Given the description of an element on the screen output the (x, y) to click on. 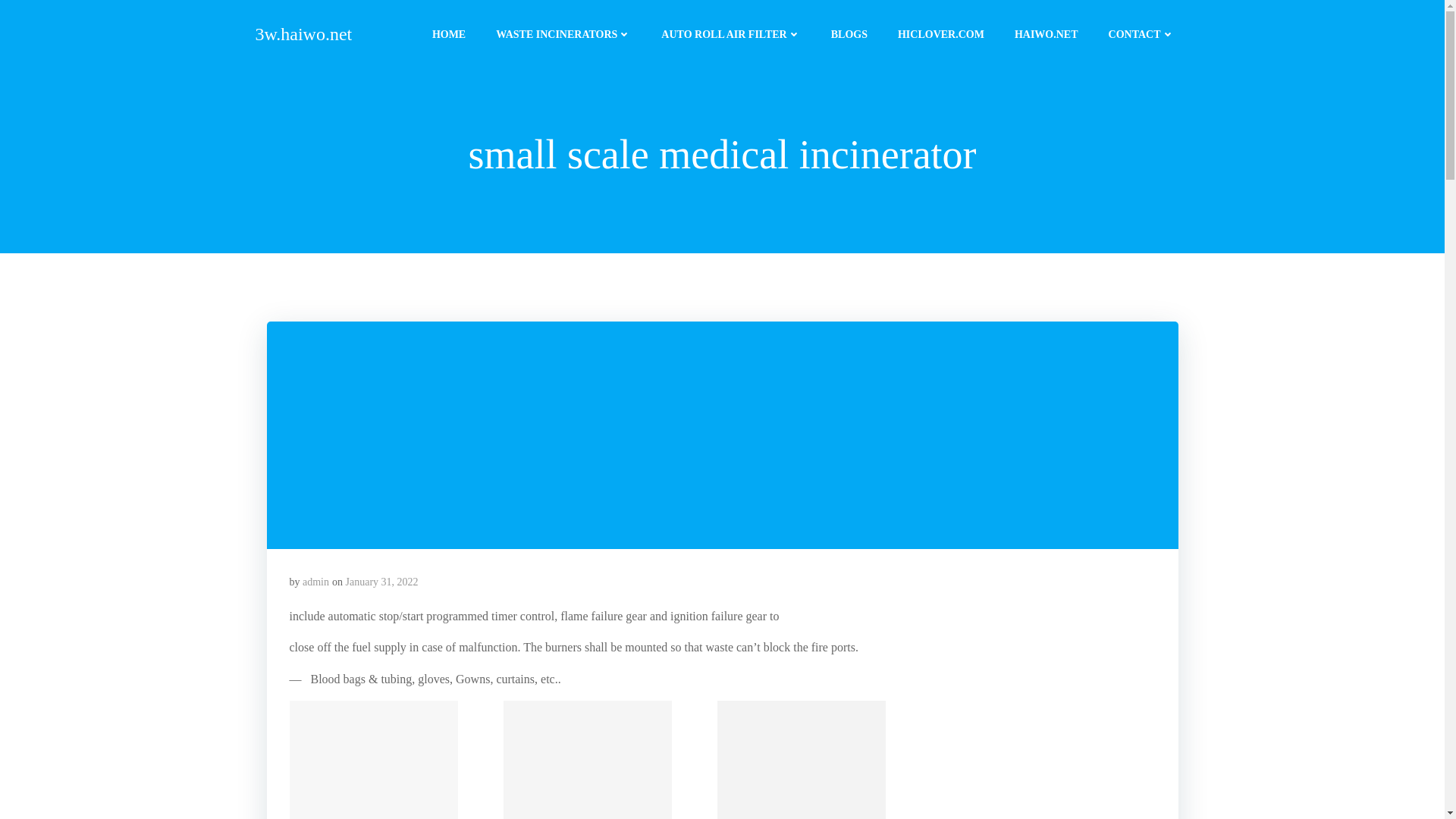
WASTE INCINERATORS (563, 33)
CONTACT (1141, 33)
HOME (448, 33)
admin (315, 581)
3w.haiwo.net (303, 33)
AUTO ROLL AIR FILTER (730, 33)
HAIWO.NET (1046, 33)
HICLOVER.COM (941, 33)
BLOGS (849, 33)
January 31, 2022 (382, 581)
